Given the description of an element on the screen output the (x, y) to click on. 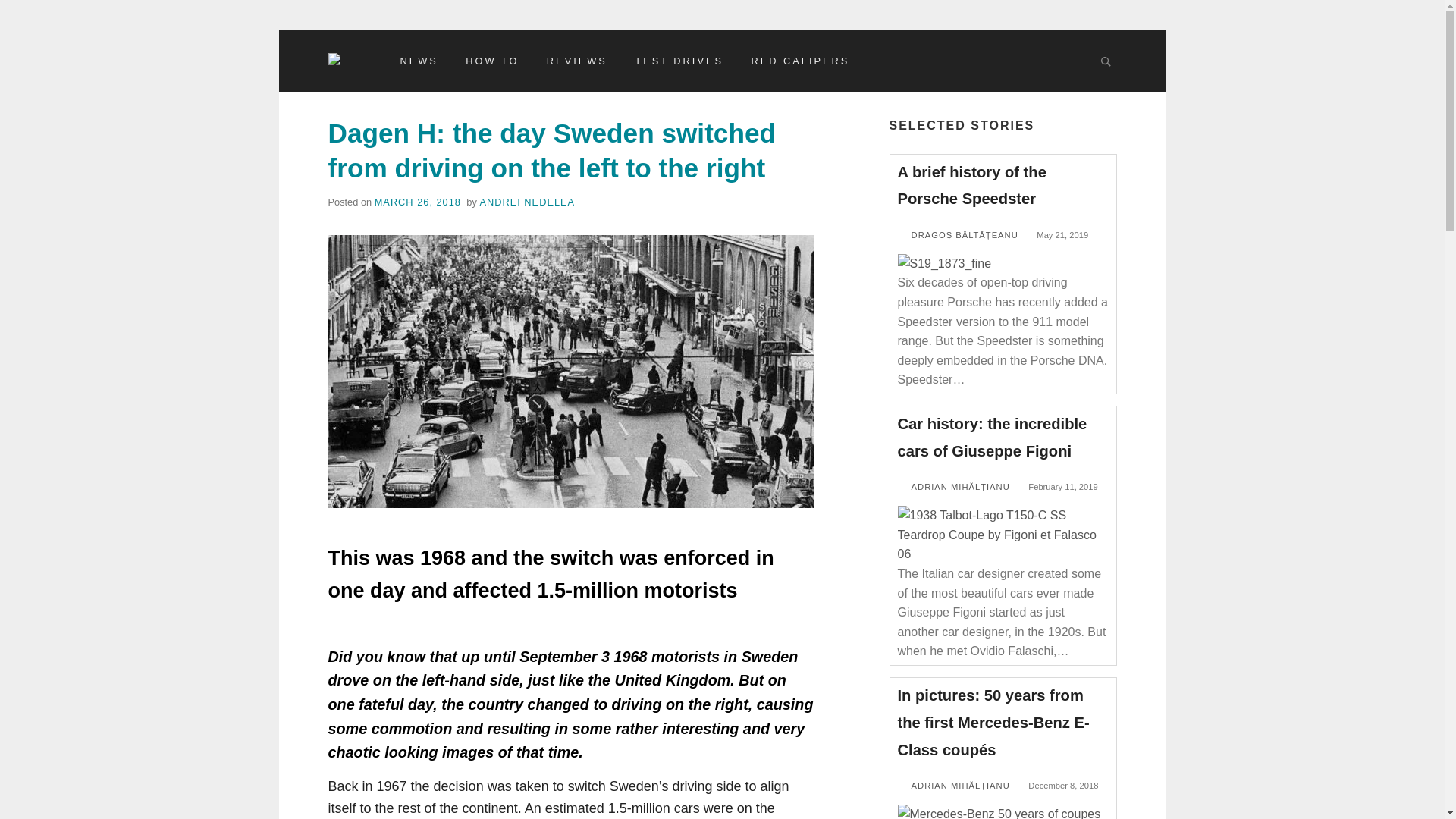
NEWS (418, 60)
Car history: the incredible cars of Giuseppe Figoni (992, 437)
REVIEWS (576, 60)
RED CALIPERS (799, 60)
A brief history of the Porsche Speedster (972, 185)
MARCH 26, 2018 (417, 202)
TEST DRIVES (678, 60)
HOW TO (491, 60)
ANDREI NEDELEA (527, 202)
